Given the description of an element on the screen output the (x, y) to click on. 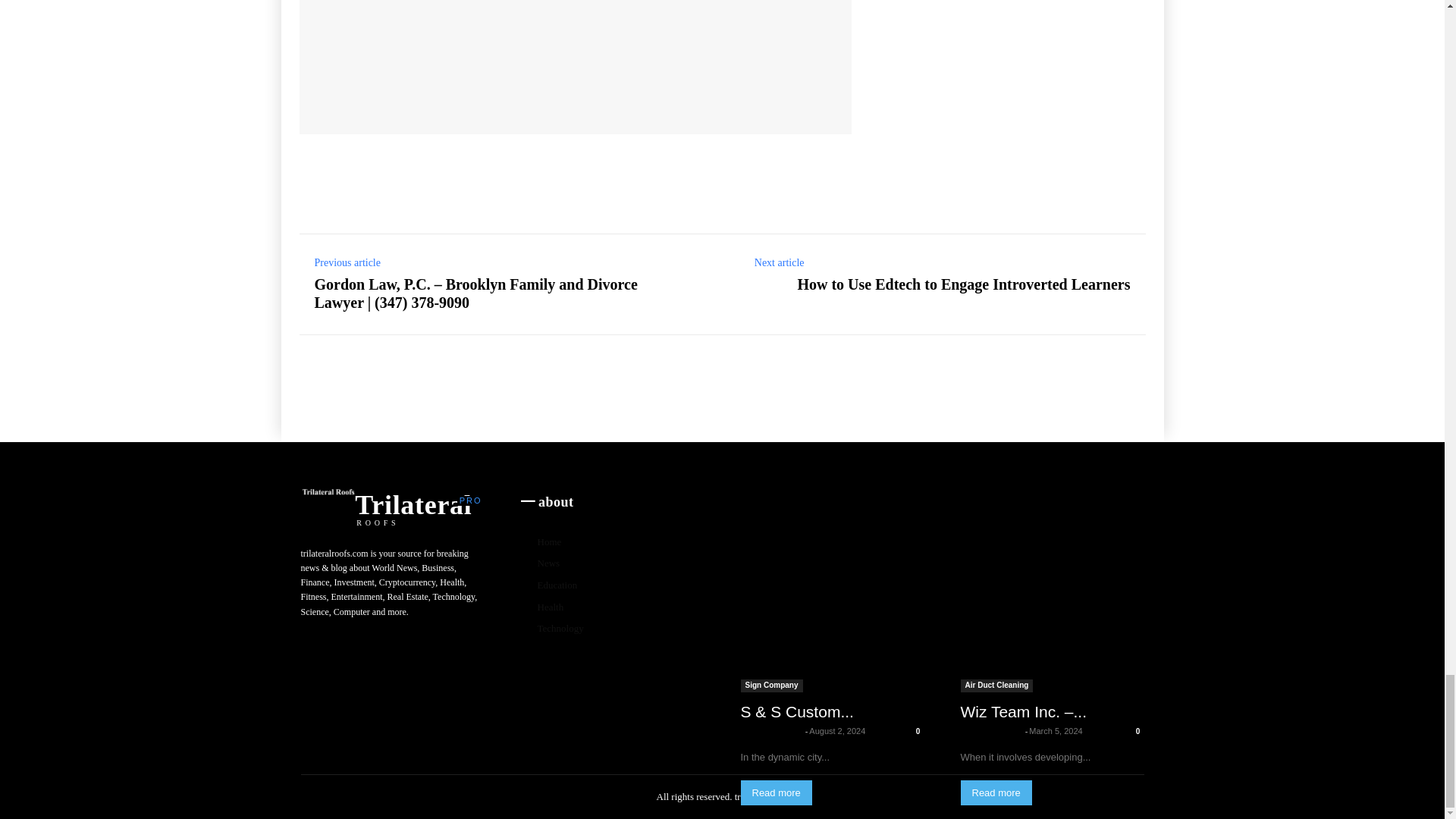
Trilateral Roofs (500, 59)
